Given the description of an element on the screen output the (x, y) to click on. 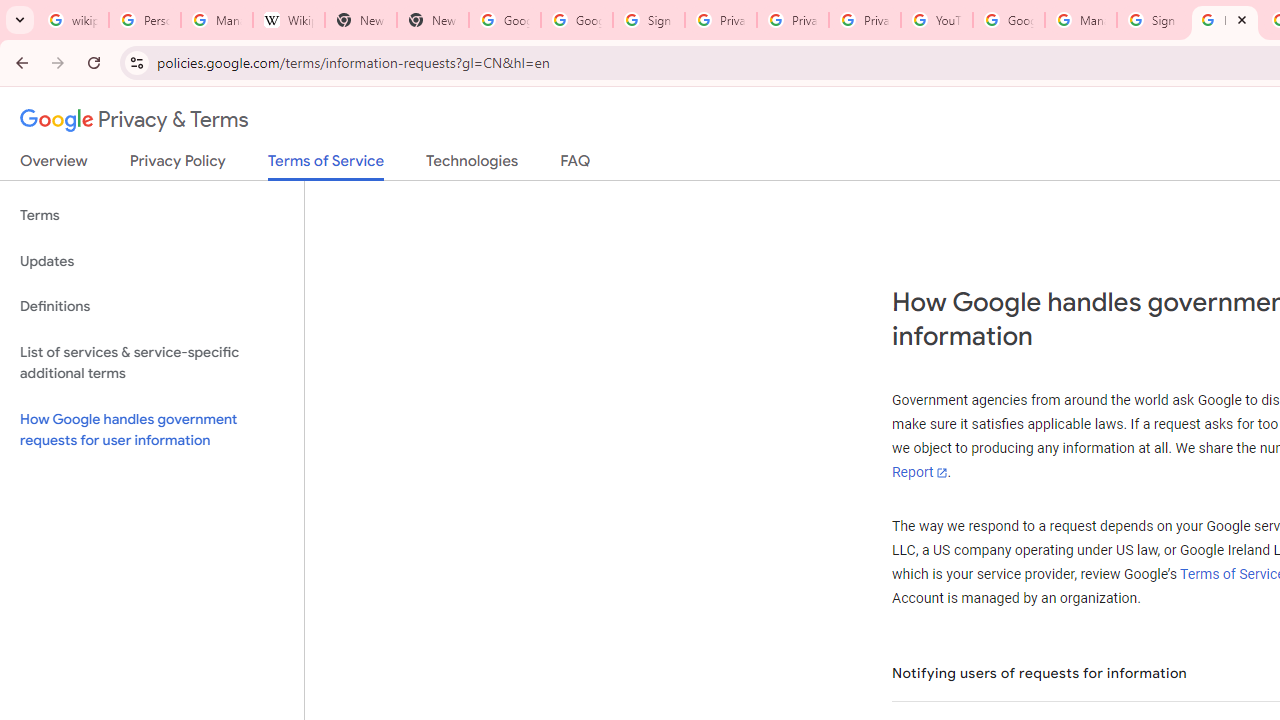
Personalization & Google Search results - Google Search Help (144, 20)
Sign in - Google Accounts (648, 20)
List of services & service-specific additional terms (152, 362)
Google Drive: Sign-in (577, 20)
Definitions (152, 306)
